Given the description of an element on the screen output the (x, y) to click on. 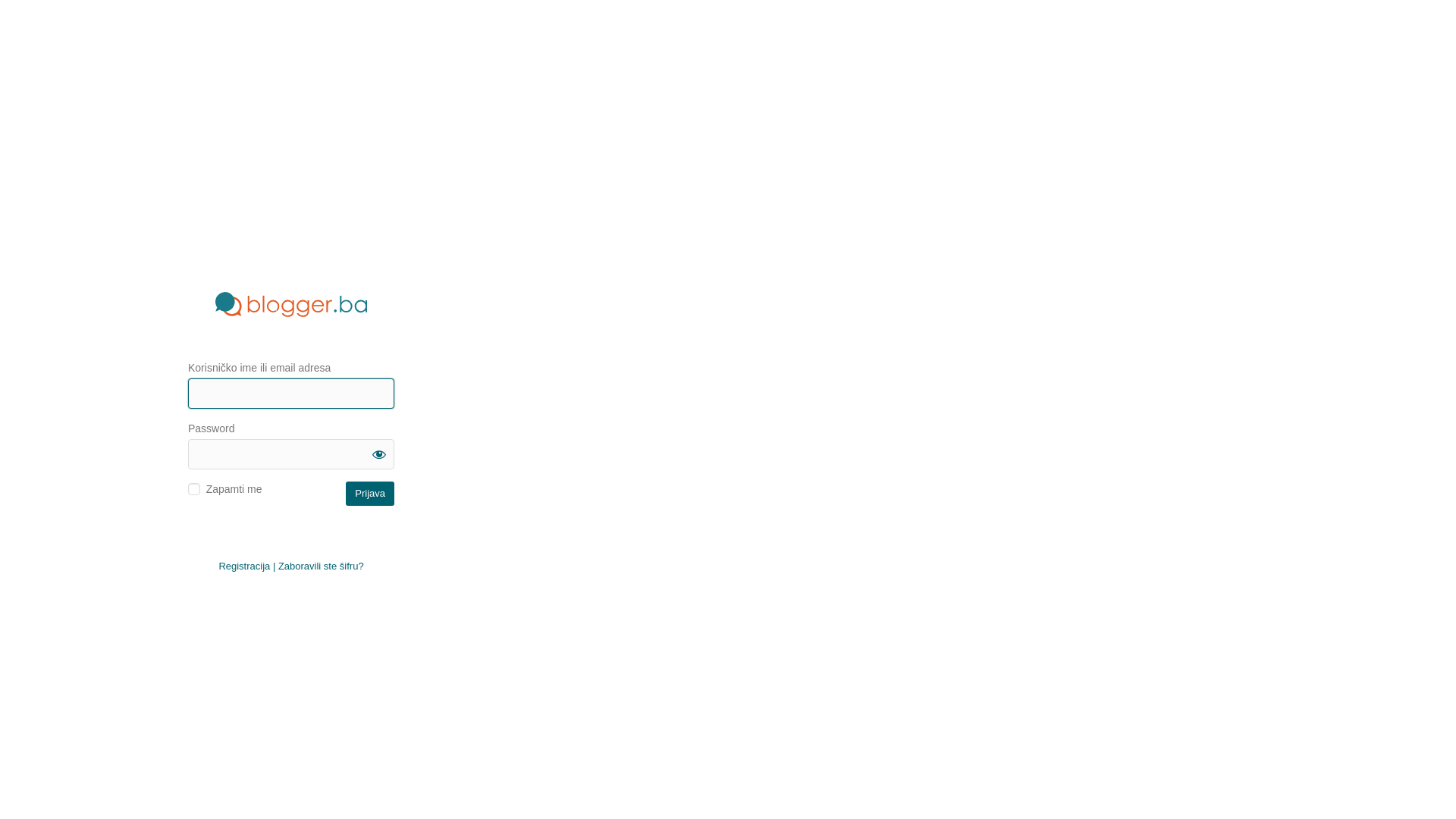
Prijava Element type: text (369, 493)
Registracija Element type: text (243, 565)
